Given the description of an element on the screen output the (x, y) to click on. 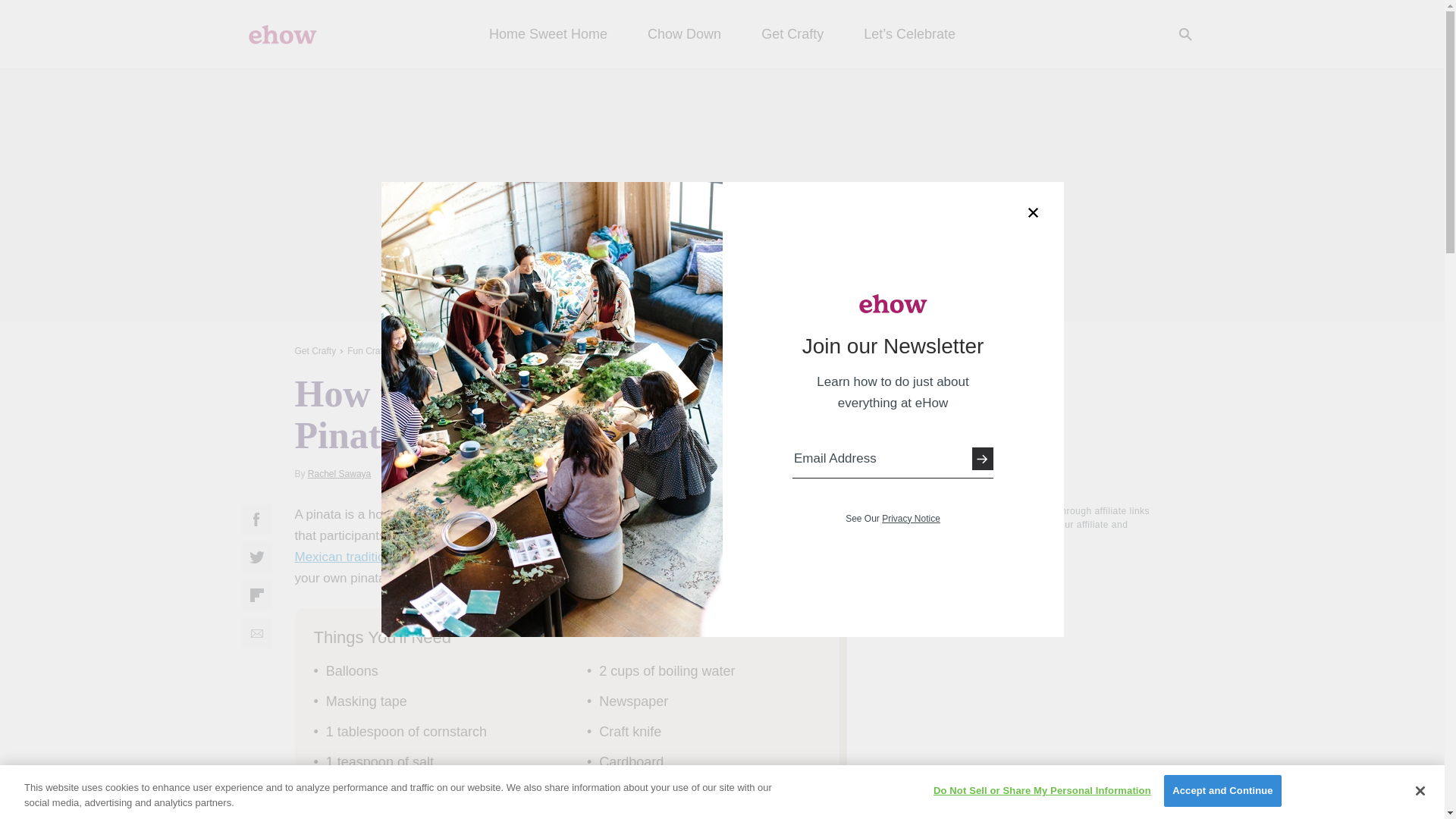
3rd party ad content (721, 194)
3rd party ad content (1035, 651)
Learn more about our affiliate and product review process (1036, 538)
